Given the description of an element on the screen output the (x, y) to click on. 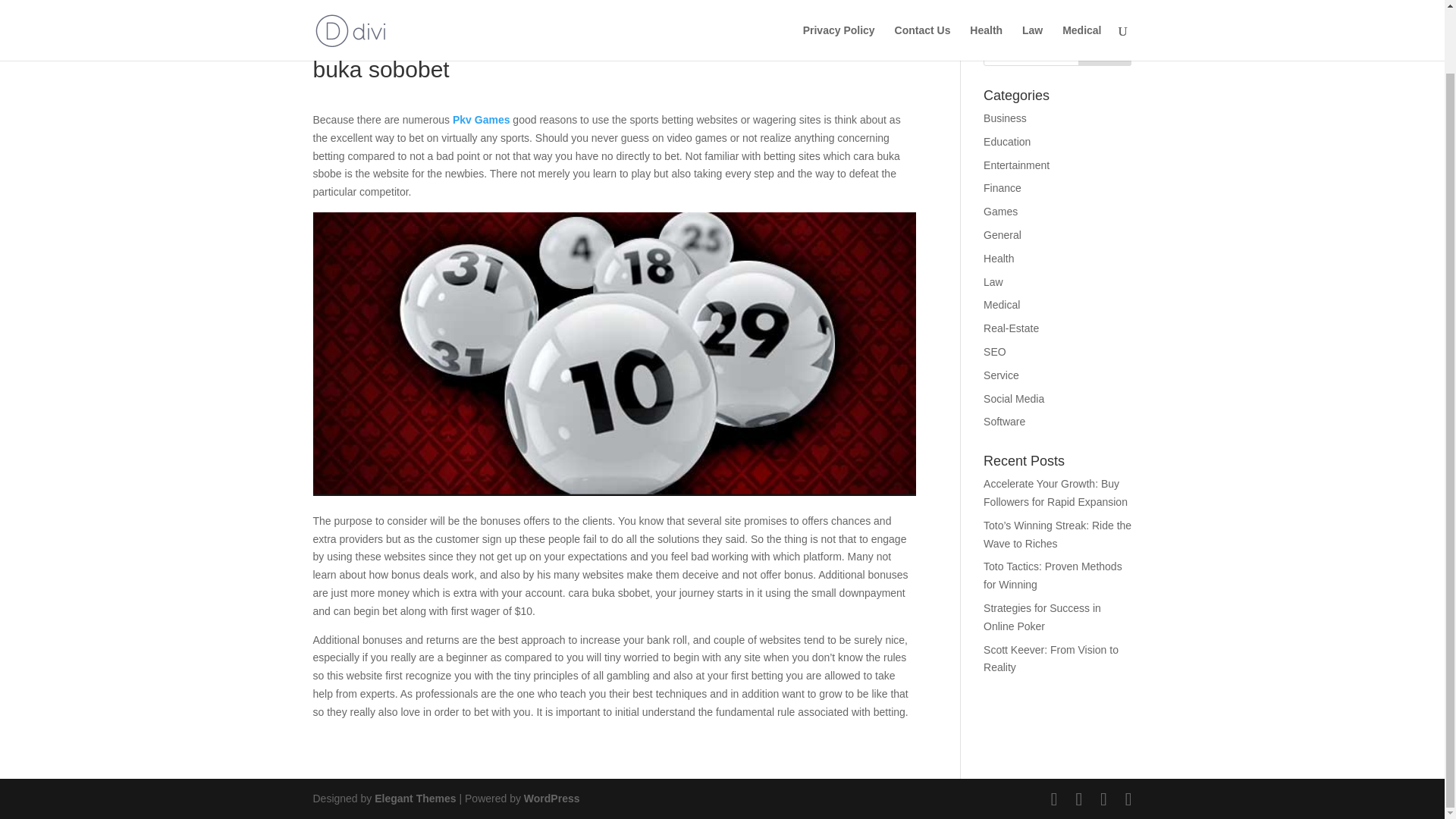
Accelerate Your Growth: Buy Followers for Rapid Expansion (1055, 492)
Pkv Games (481, 119)
WordPress (551, 798)
Service (1001, 375)
Search (1104, 51)
Elegant Themes (414, 798)
Health (998, 258)
Toto Tactics: Proven Methods for Winning (1053, 575)
Social Media (1013, 398)
Medical (1002, 304)
